Given the description of an element on the screen output the (x, y) to click on. 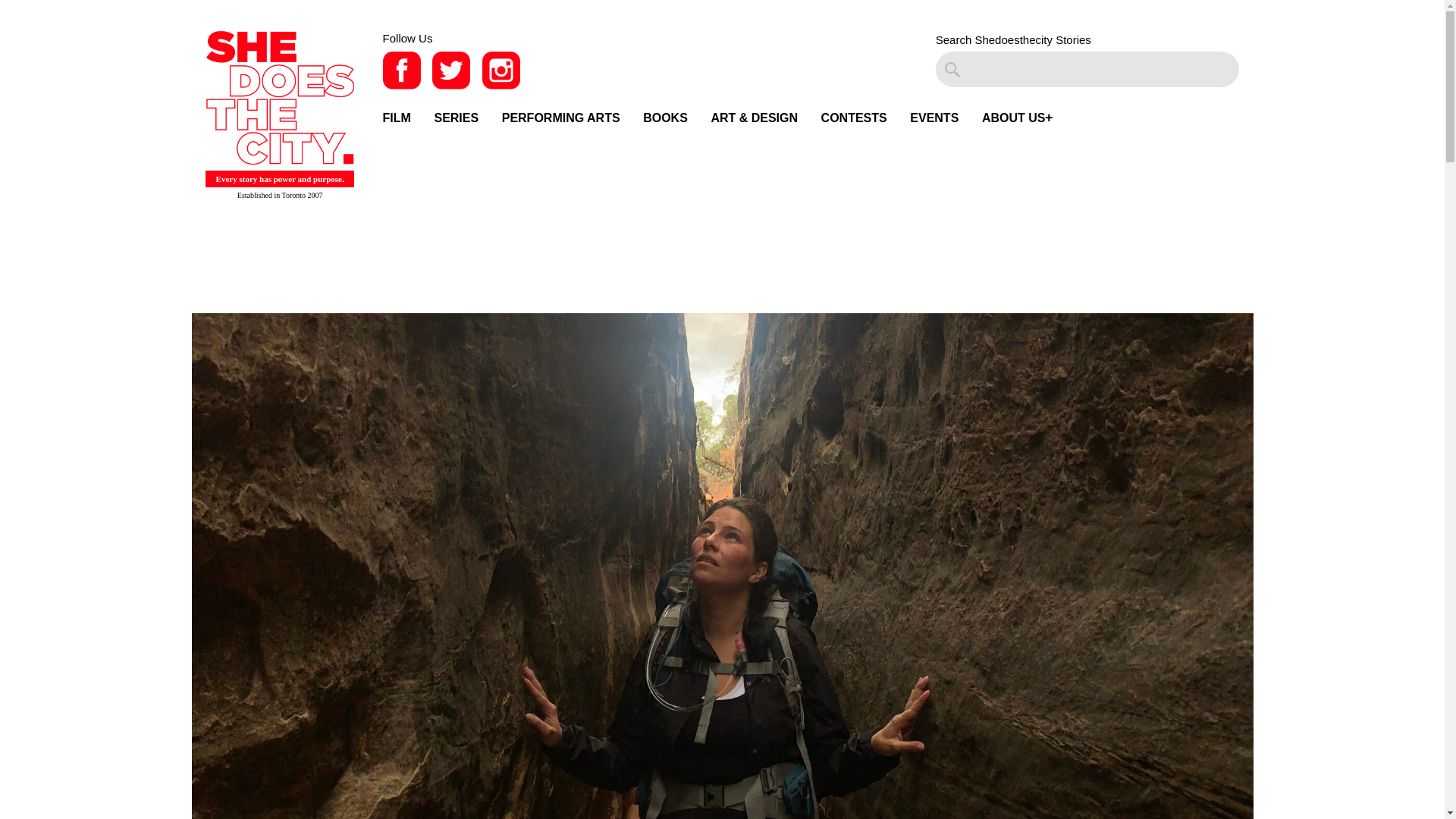
PERFORMING ARTS (561, 117)
EVENTS (934, 117)
ABOUT US (1013, 117)
FILM (396, 117)
CONTESTS (853, 117)
BOOKS (665, 117)
SERIES (456, 117)
